Given the description of an element on the screen output the (x, y) to click on. 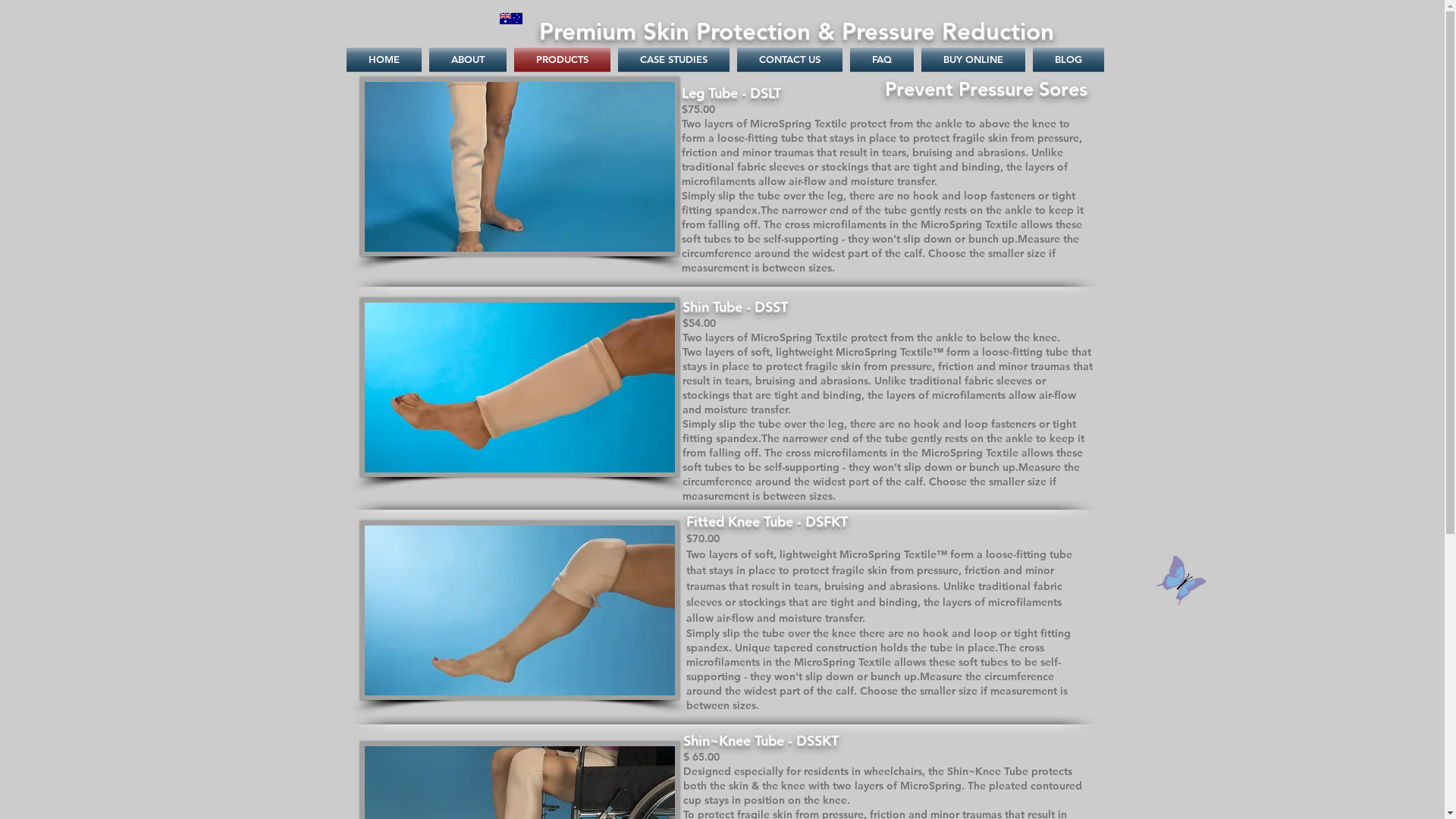
FAQ Element type: text (881, 59)
ABOUT Element type: text (466, 59)
DermaSaver Leg Tubes Element type: hover (518, 166)
Fitted Knee Protector Element type: hover (518, 609)
ShinTube Element type: hover (518, 387)
BLOG Element type: text (1065, 59)
CONTACT US Element type: text (788, 59)
HOME Element type: text (384, 59)
PRODUCTS Element type: text (561, 59)
CASE STUDIES Element type: text (673, 59)
BUY ONLINE Element type: text (973, 59)
